Given the description of an element on the screen output the (x, y) to click on. 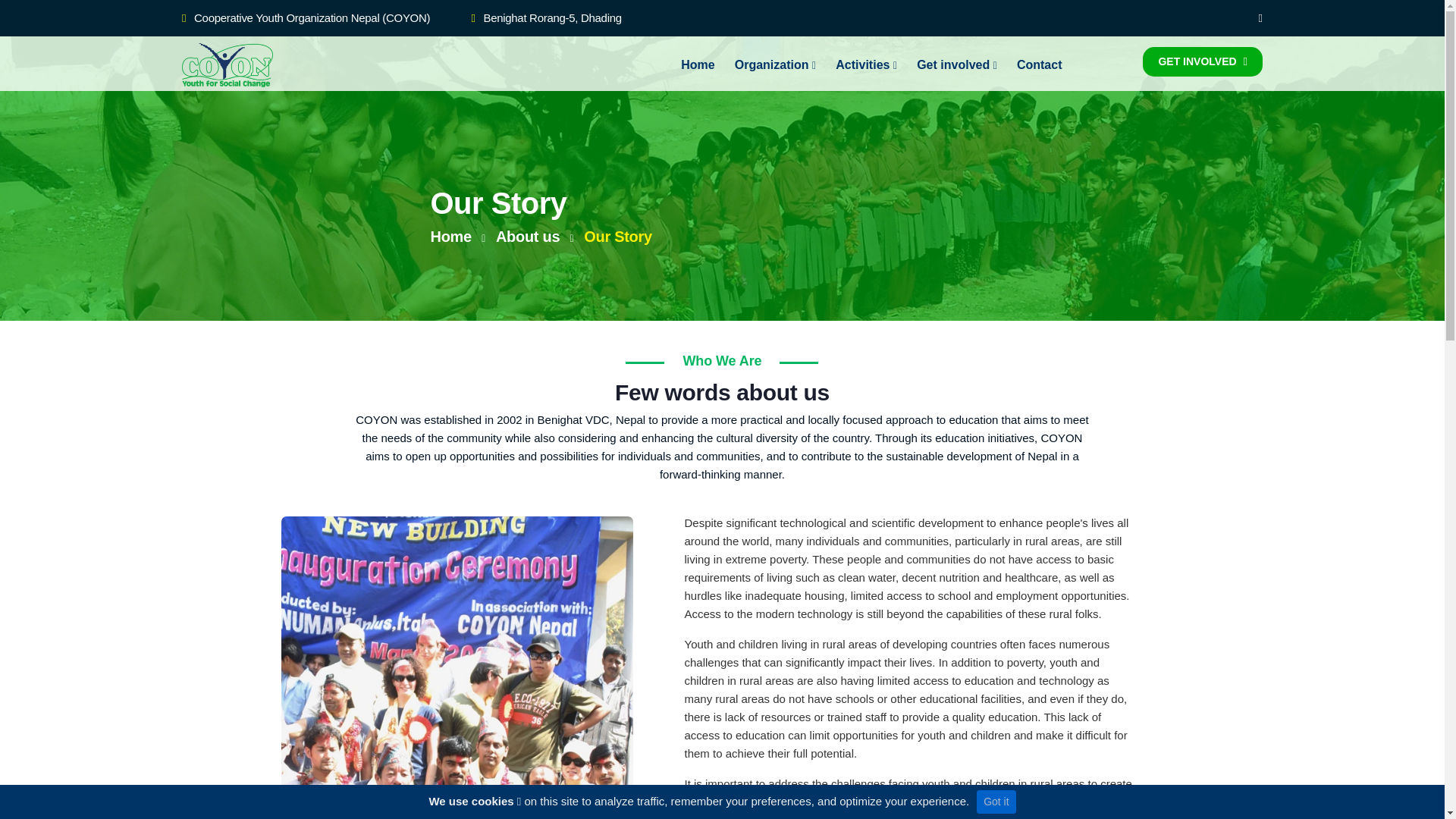
Home (457, 236)
Get involved (957, 64)
Activities (865, 64)
GET INVOLVED (1202, 61)
Organization (775, 64)
COYON - Youth for Social Change (227, 63)
About us (534, 236)
